Given the description of an element on the screen output the (x, y) to click on. 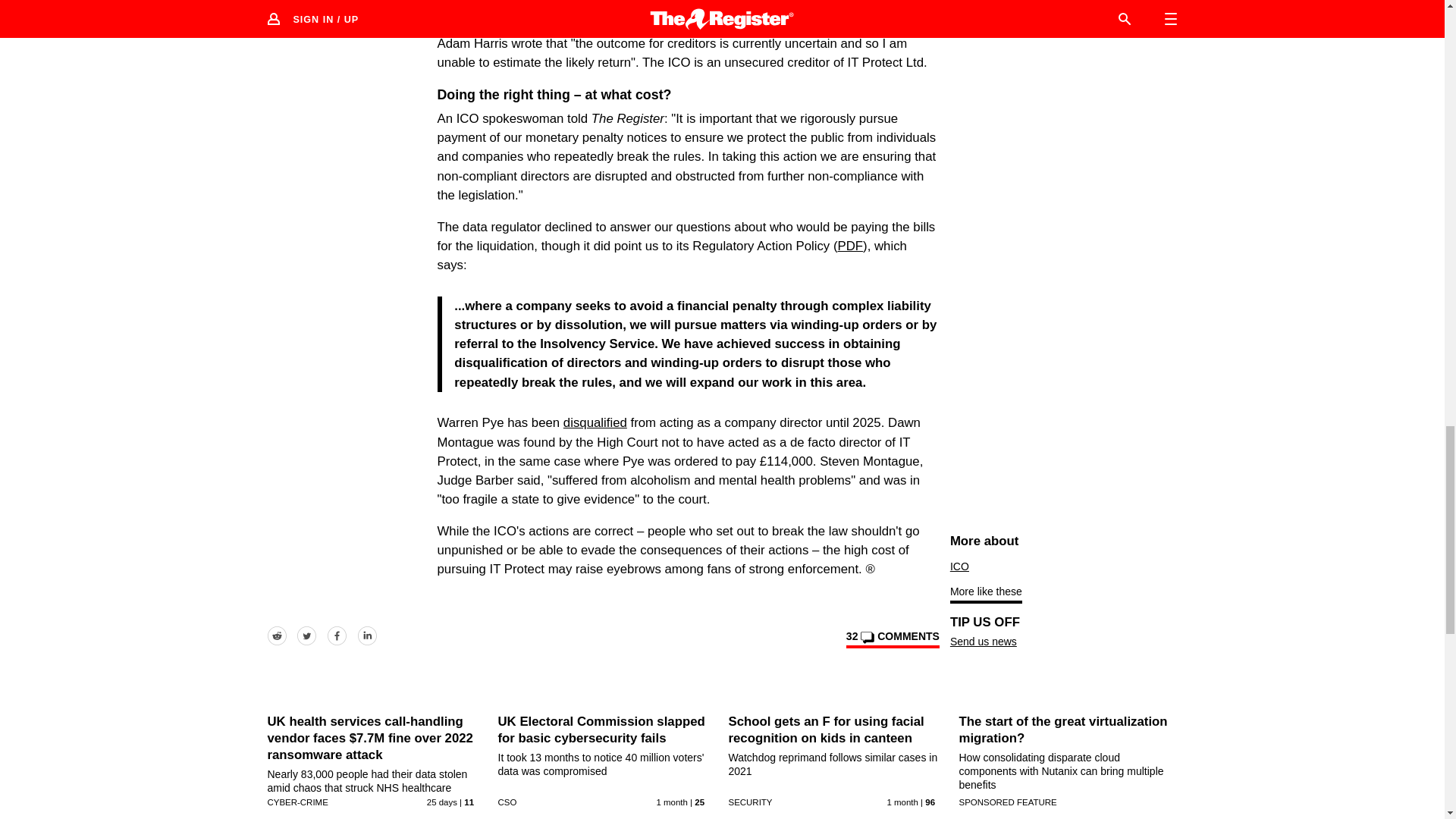
View comments on this article (892, 638)
24 Jul 2024 8:32 (901, 801)
7 Aug 2024 8:26 (441, 801)
31 Jul 2024 8:30 (671, 801)
